Given the description of an element on the screen output the (x, y) to click on. 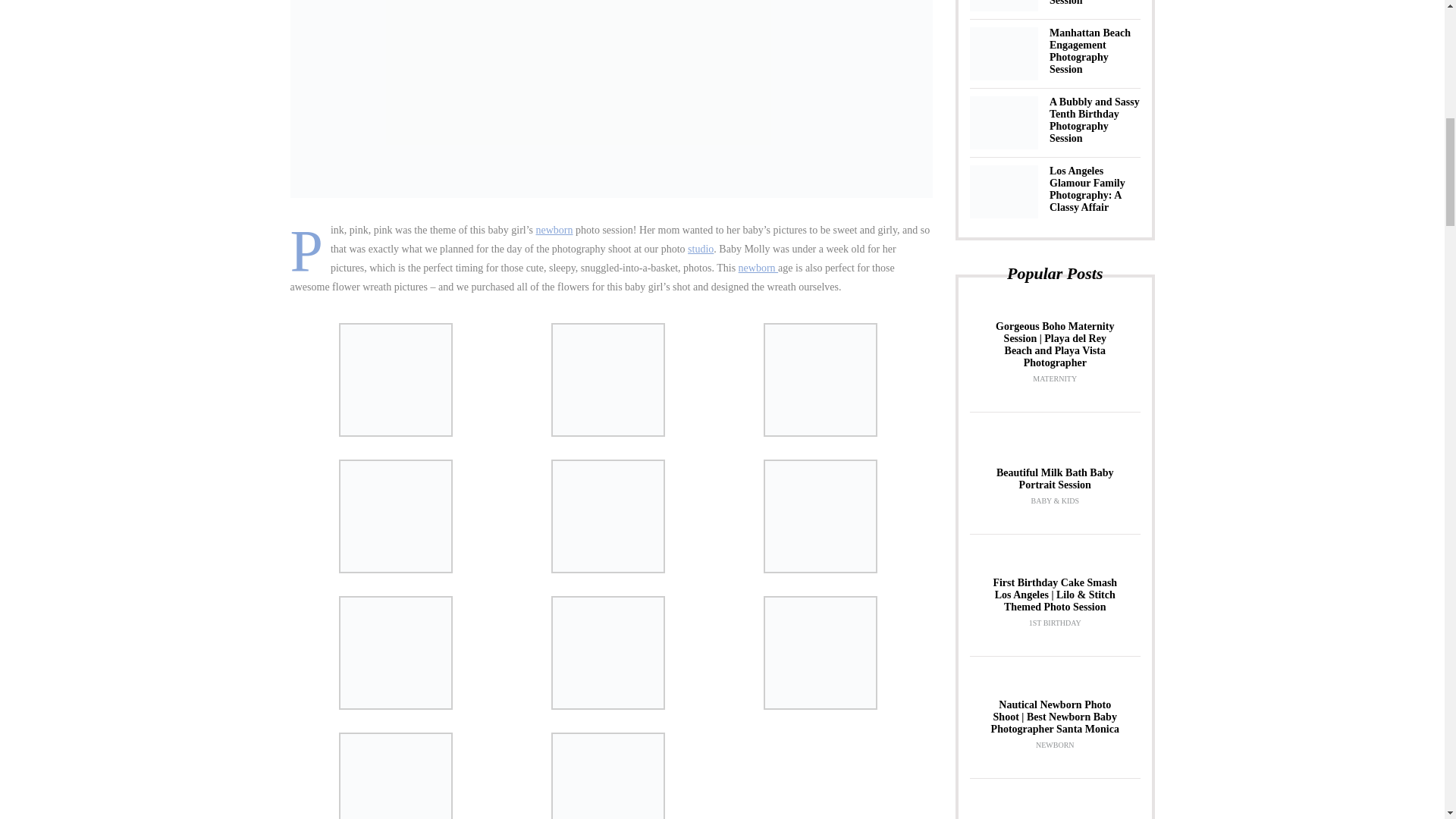
studio (700, 248)
newborn (554, 229)
newborn (758, 267)
